Given the description of an element on the screen output the (x, y) to click on. 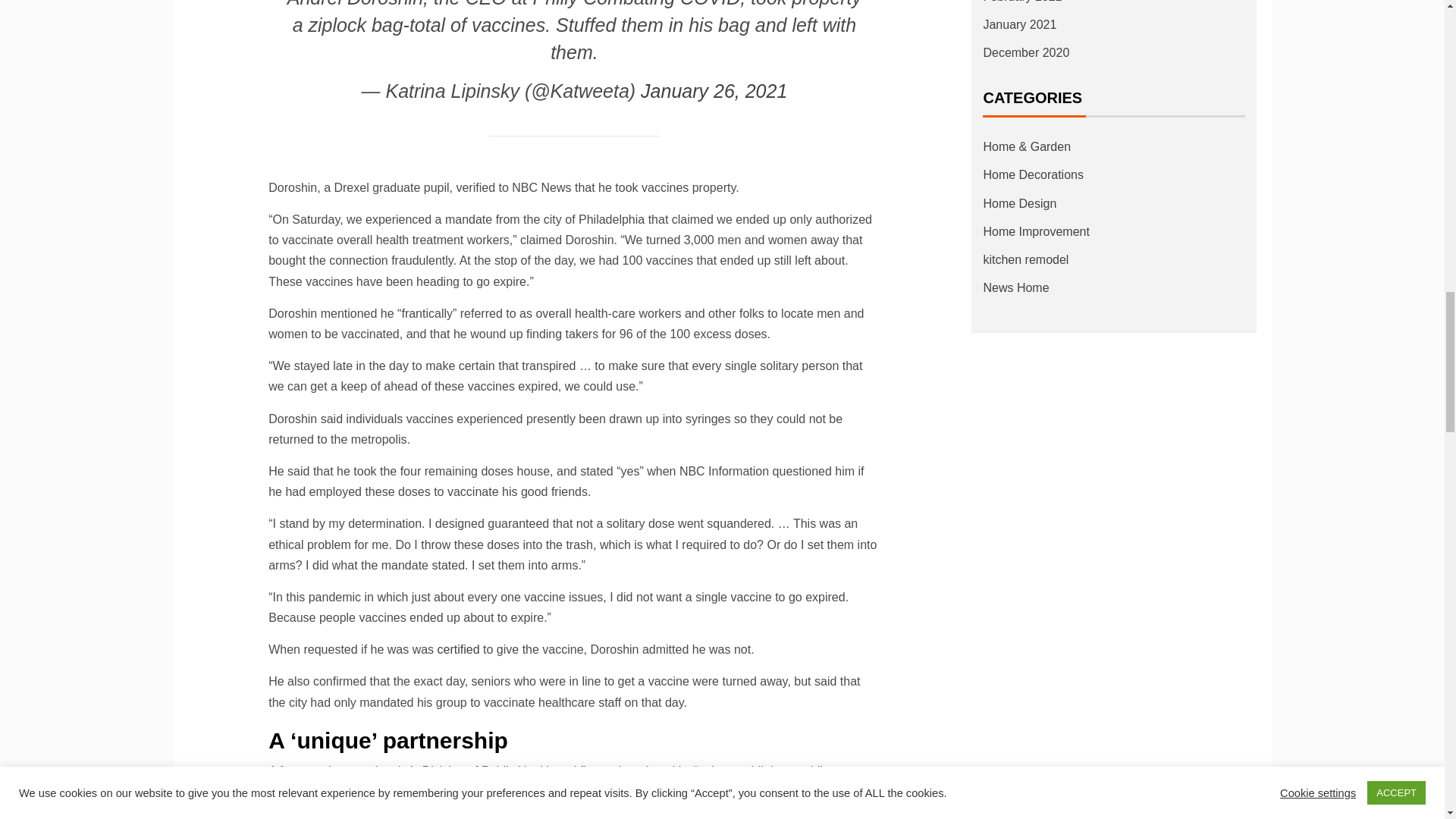
January 26, 2021 (713, 90)
certified (459, 649)
NBC Philadelphia (601, 790)
